Given the description of an element on the screen output the (x, y) to click on. 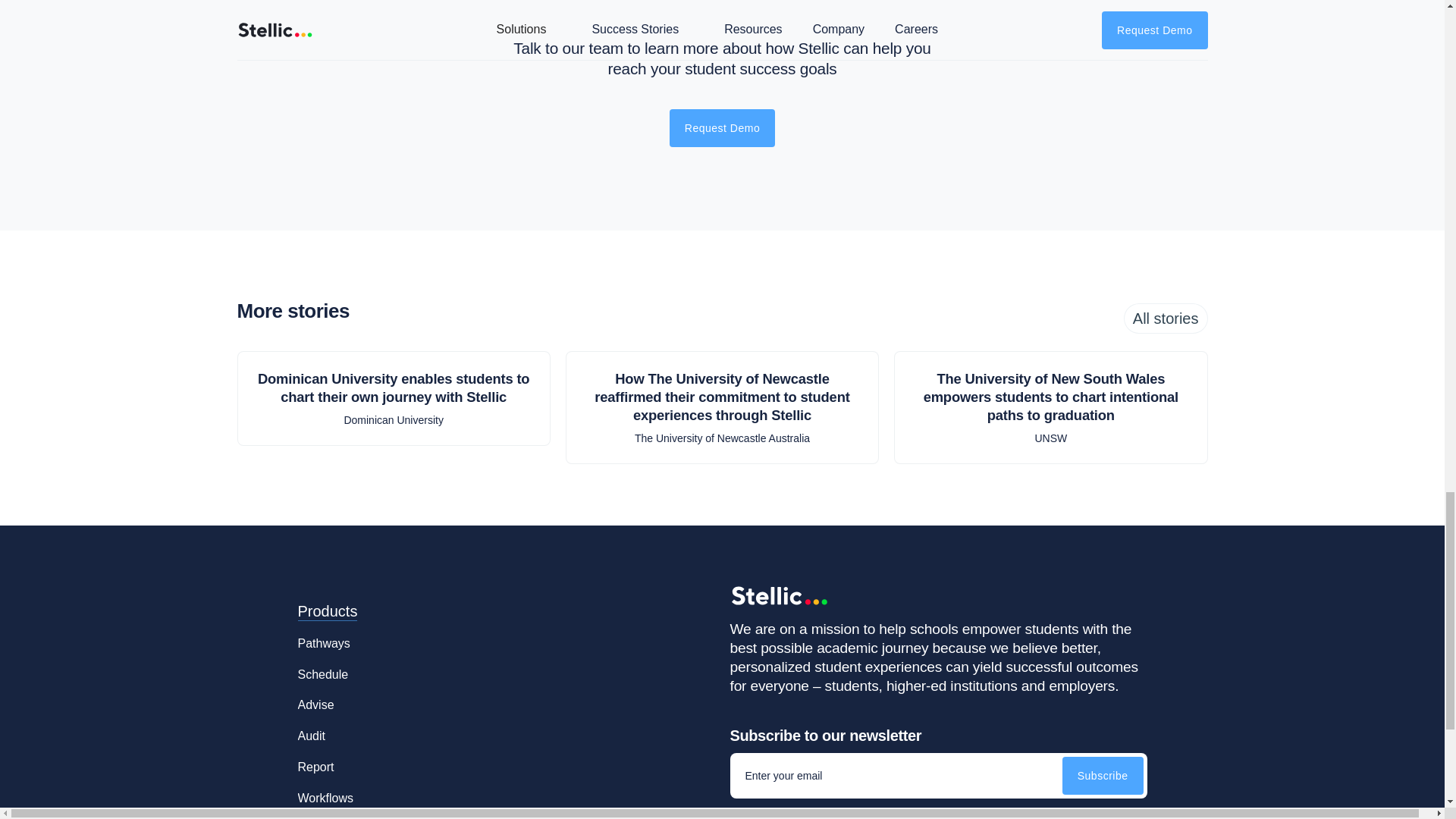
Pathways (323, 637)
Products (326, 610)
Advise (315, 699)
Subscribe (1102, 775)
Report (315, 761)
Workflows (325, 792)
All stories (1166, 318)
Audit (310, 730)
Request Demo (721, 127)
Subscribe (1102, 775)
Success Stories (351, 814)
Schedule (322, 668)
